Given the description of an element on the screen output the (x, y) to click on. 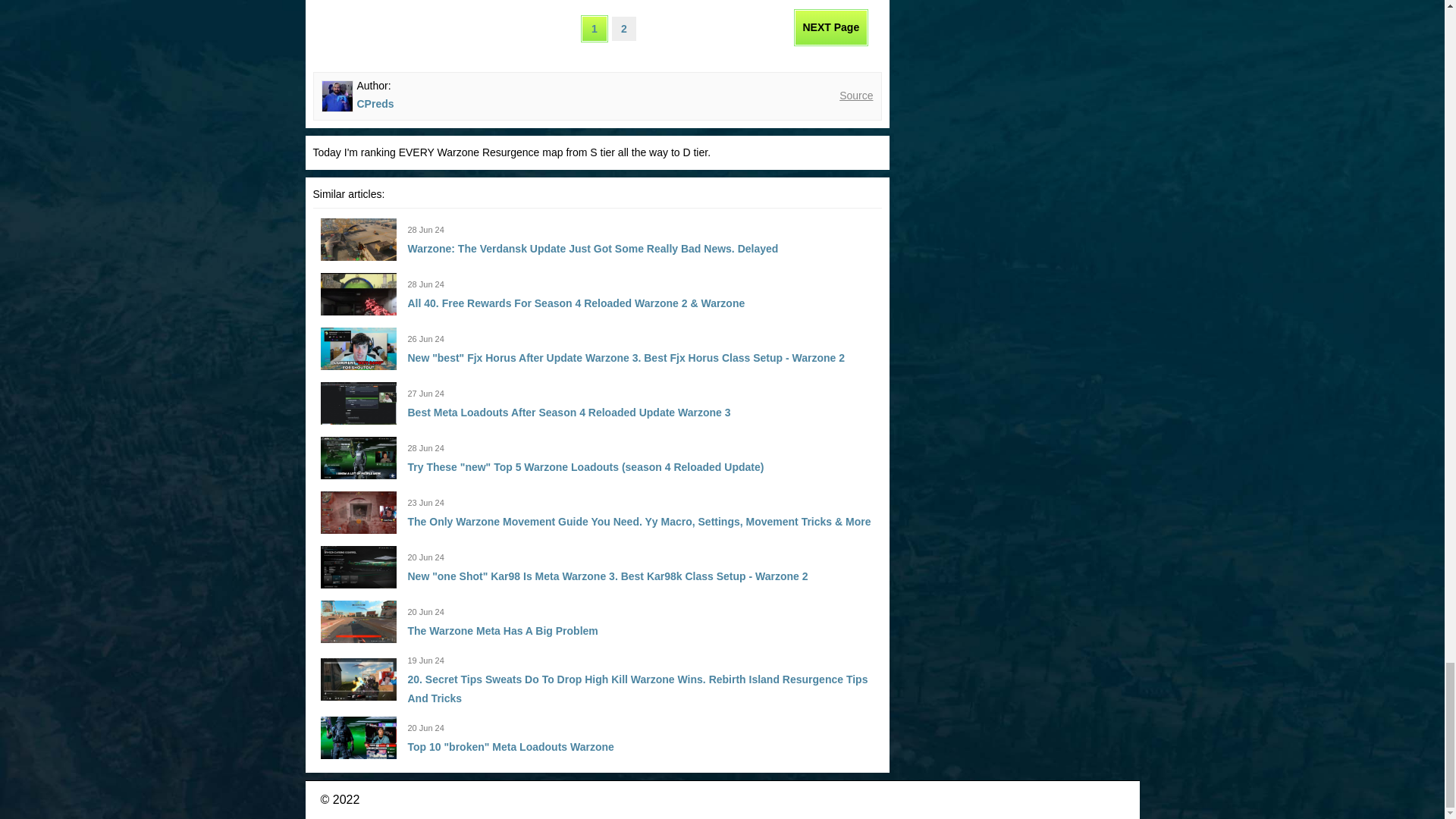
CPreds (374, 103)
2 (623, 28)
Best Meta Loadouts After Season 4 Reloaded Update Warzone 3 (568, 412)
Top 10 "broken" Meta Loadouts Warzone (510, 746)
1 (593, 28)
The Warzone Meta Has A Big Problem (502, 630)
NEXT Page (830, 27)
